Given the description of an element on the screen output the (x, y) to click on. 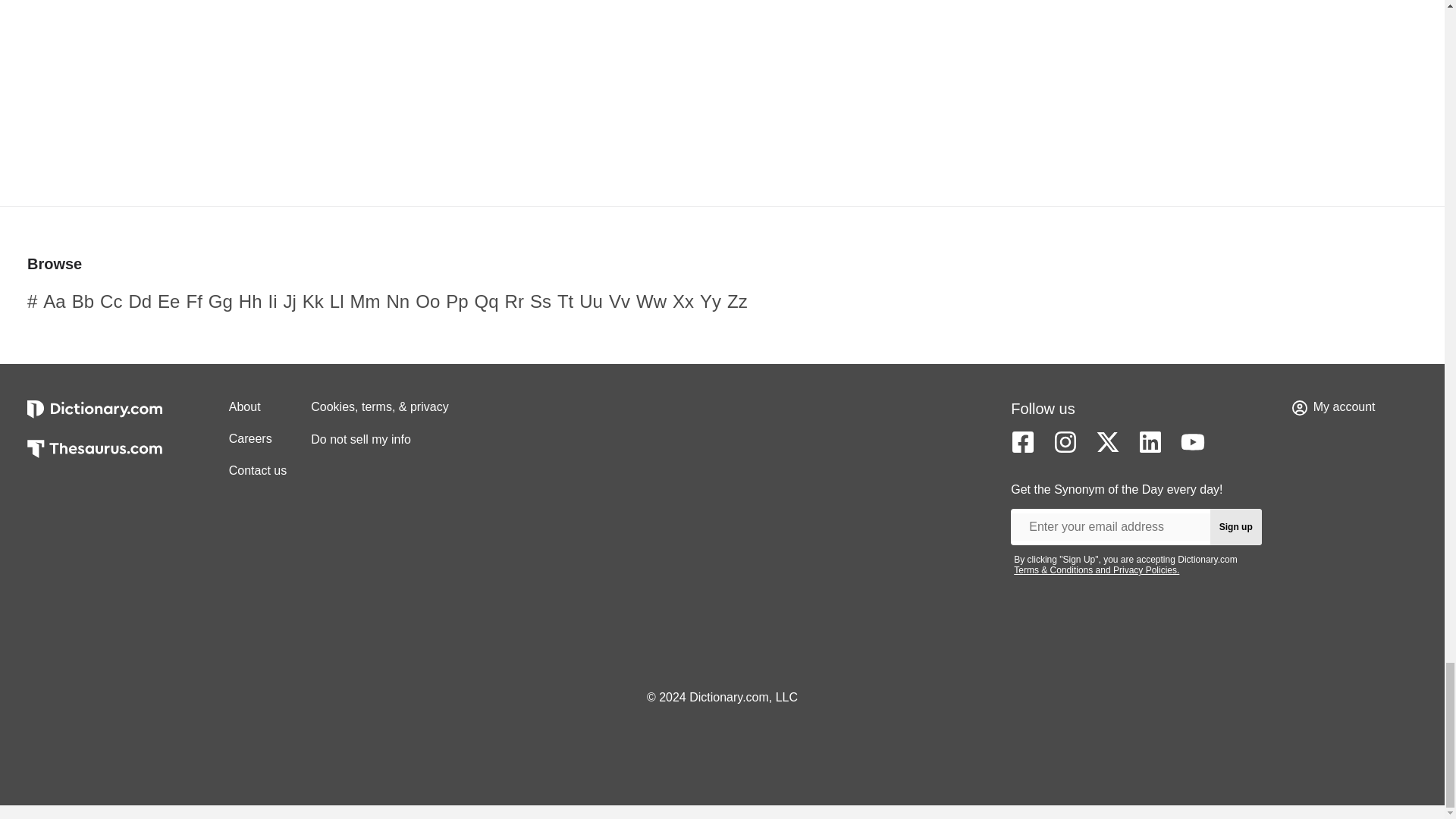
linkedin (1149, 441)
instagram (1064, 441)
twitter (1107, 441)
youtube (1192, 441)
facebook (1022, 441)
